Given the description of an element on the screen output the (x, y) to click on. 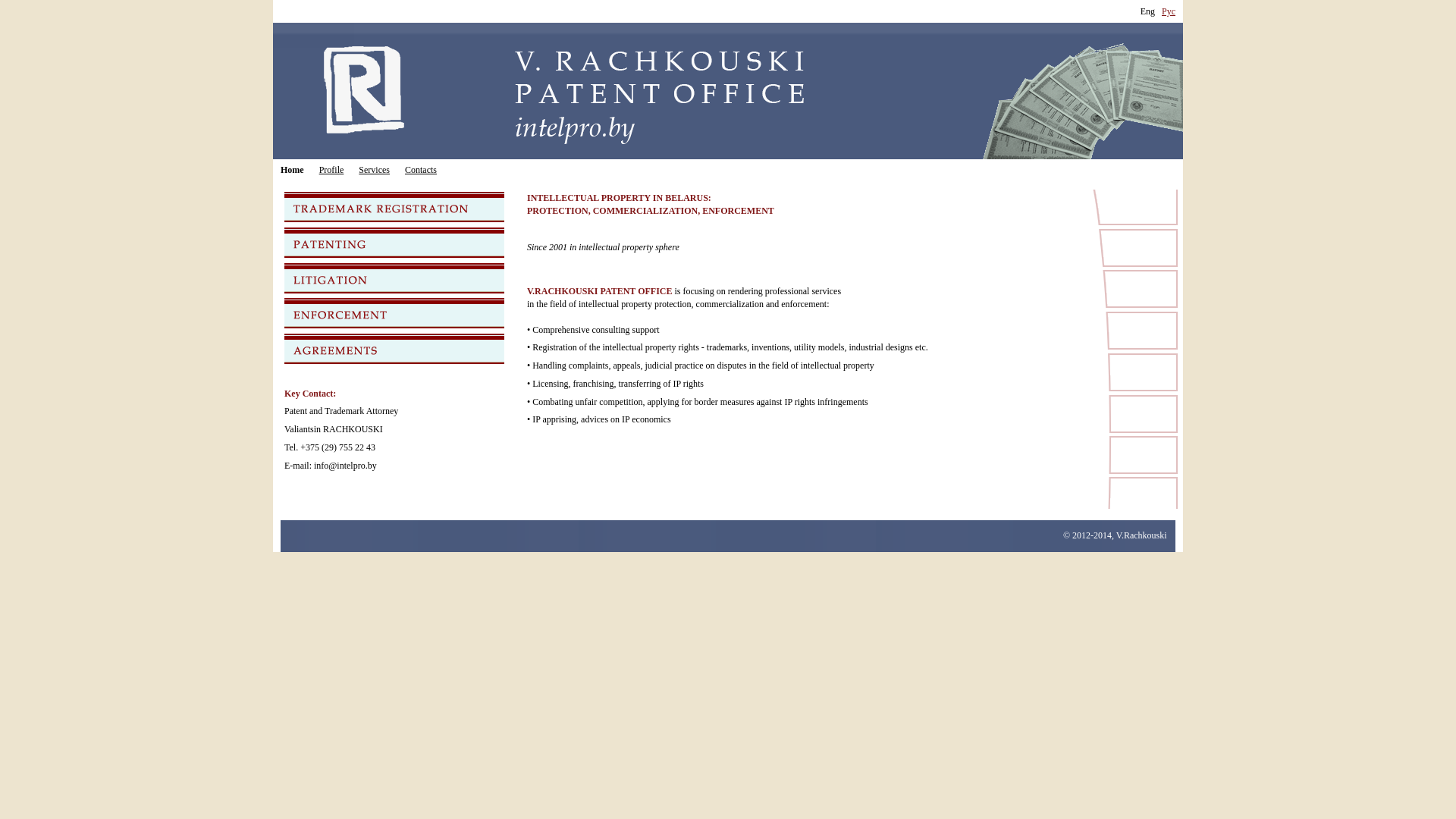
Profile Element type: text (331, 170)
Services Element type: text (374, 170)
Contacts Element type: text (420, 170)
Home Element type: text (292, 170)
